Given the description of an element on the screen output the (x, y) to click on. 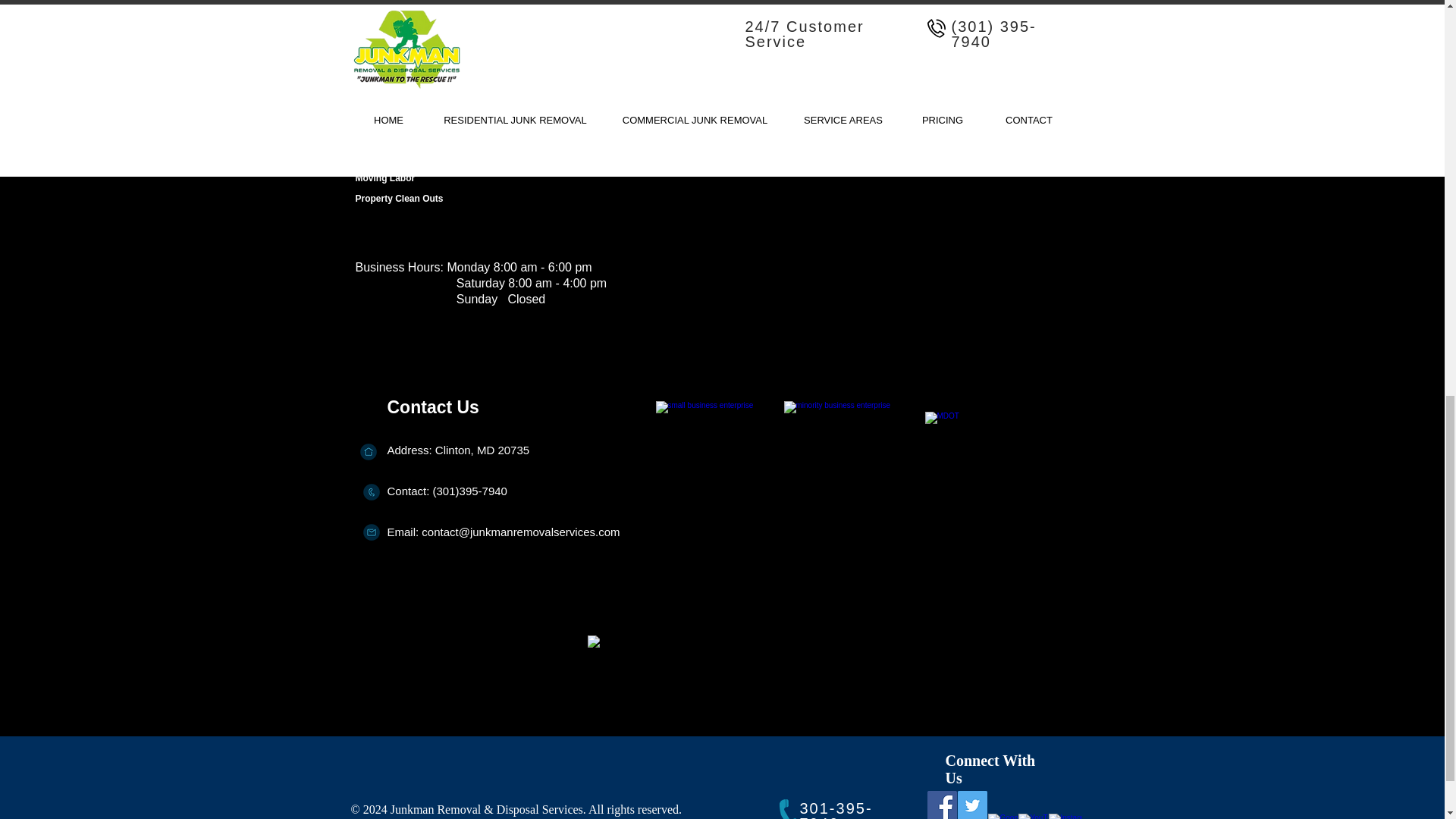
MINORITY BUSINESS ENTERPRISE (850, 462)
MDOT (1009, 462)
CERTIFIED SMALL BUSINESS (721, 462)
